Given the description of an element on the screen output the (x, y) to click on. 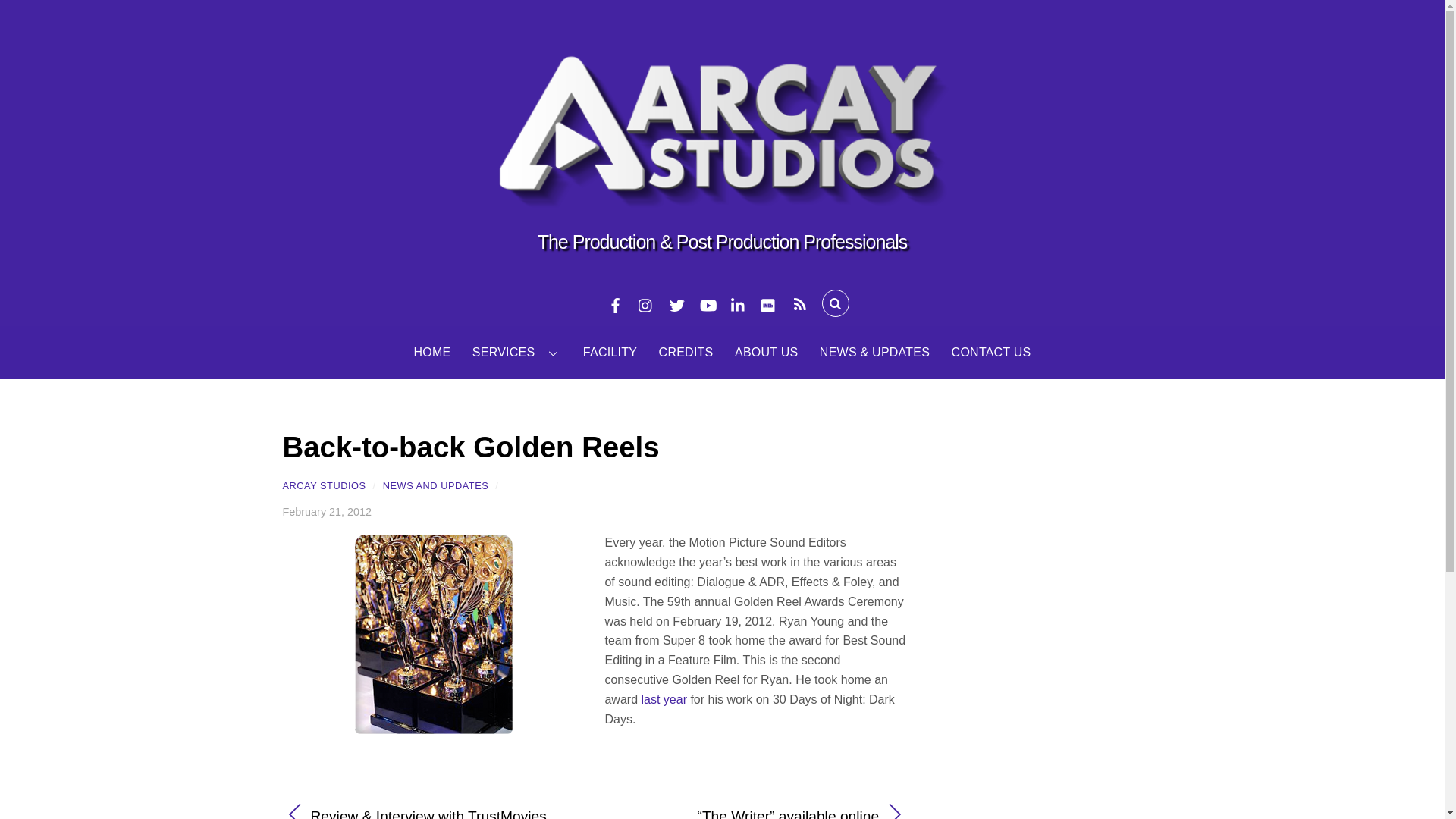
CREDITS (686, 352)
Back-to-back Golden Reels (470, 446)
ARCAY STUDIOS (323, 485)
CONTACT US (991, 352)
NEWS AND UPDATES (435, 485)
SERVICES (516, 352)
last year (662, 698)
FACILITY (610, 352)
Arcay Studios (722, 192)
ABOUT US (766, 352)
